Given the description of an element on the screen output the (x, y) to click on. 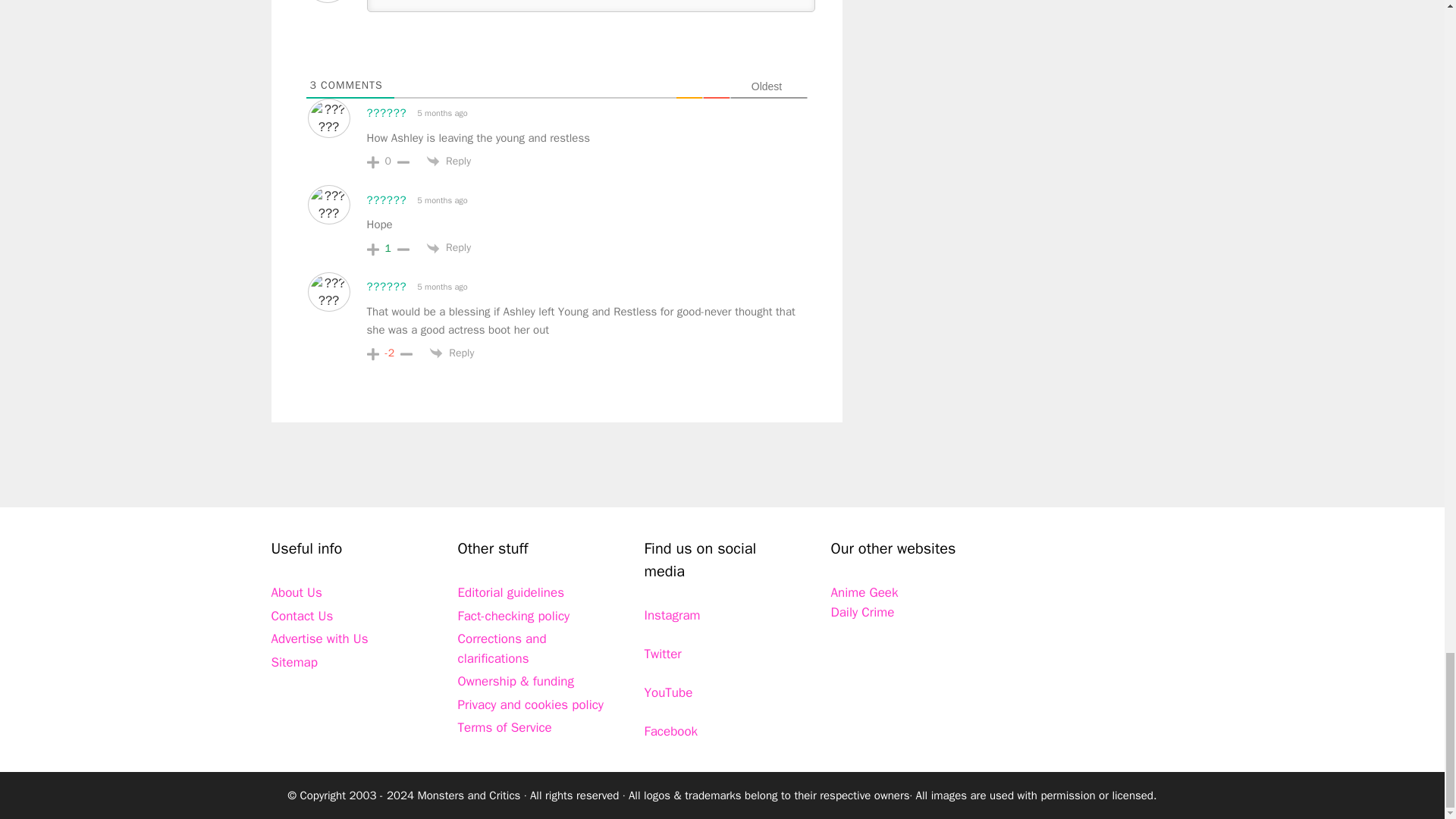
-2 (389, 353)
26th March 2024 8:02 pm EDT (440, 113)
26th March 2024 8:02 pm EDT (440, 200)
0 (387, 161)
27th March 2024 8:39 pm EDT (440, 287)
1 (387, 248)
